Given the description of an element on the screen output the (x, y) to click on. 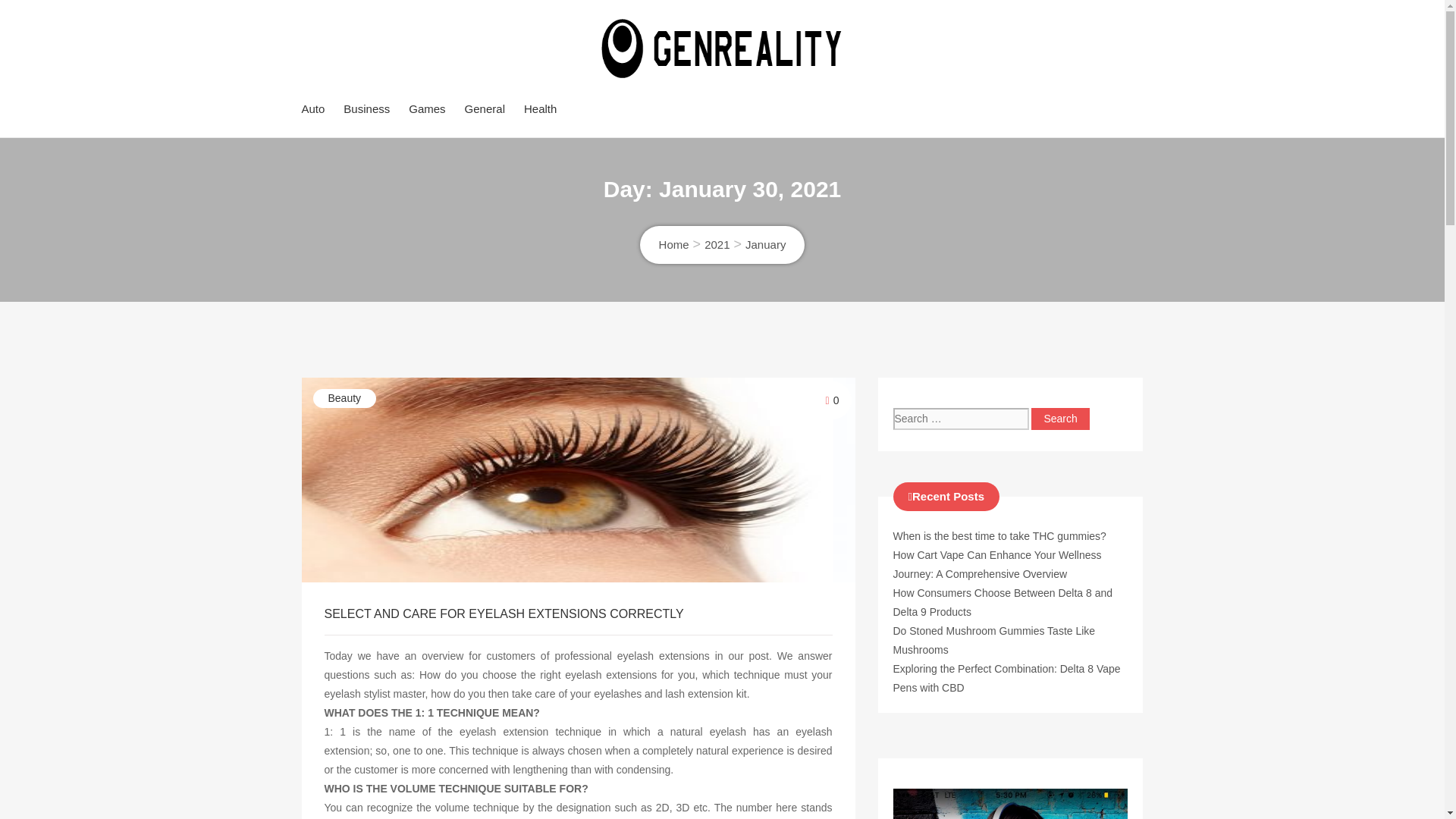
Games (427, 108)
Business (366, 108)
Do Stoned Mushroom Gummies Taste Like Mushrooms (994, 640)
SELECT AND CARE FOR EYELASH EXTENSIONS CORRECTLY (504, 613)
Health (540, 108)
Beauty (344, 398)
Auto (312, 108)
Gen Reality (449, 118)
Search (1059, 418)
Search (1059, 418)
Search (1059, 418)
How Consumers Choose Between Delta 8 and Delta 9 Products (1003, 602)
2021 (716, 244)
Auto (312, 108)
